Given the description of an element on the screen output the (x, y) to click on. 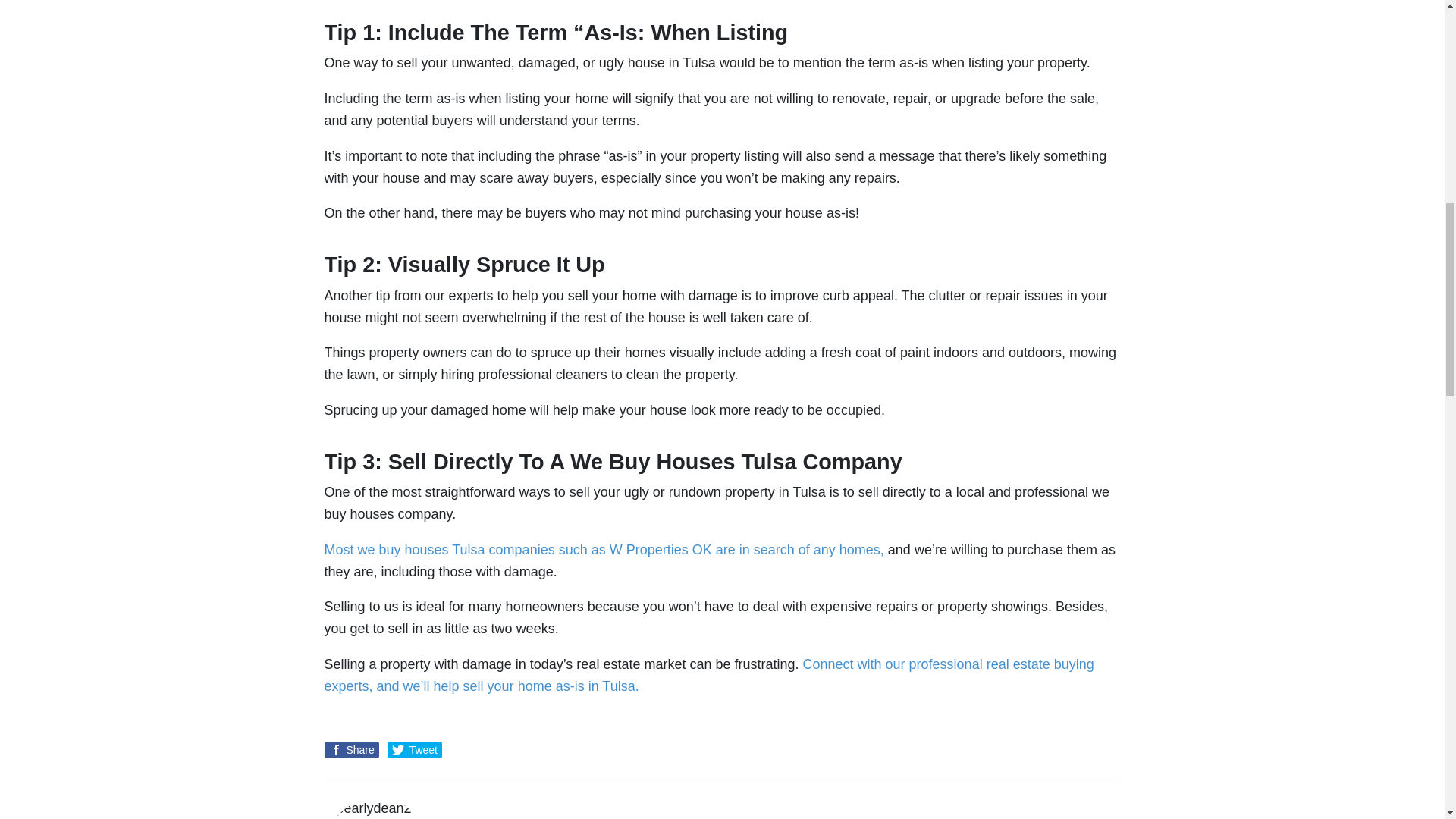
Share on Twitter (414, 750)
Share on Facebook (351, 750)
Share (351, 750)
Tweet (414, 750)
